Given the description of an element on the screen output the (x, y) to click on. 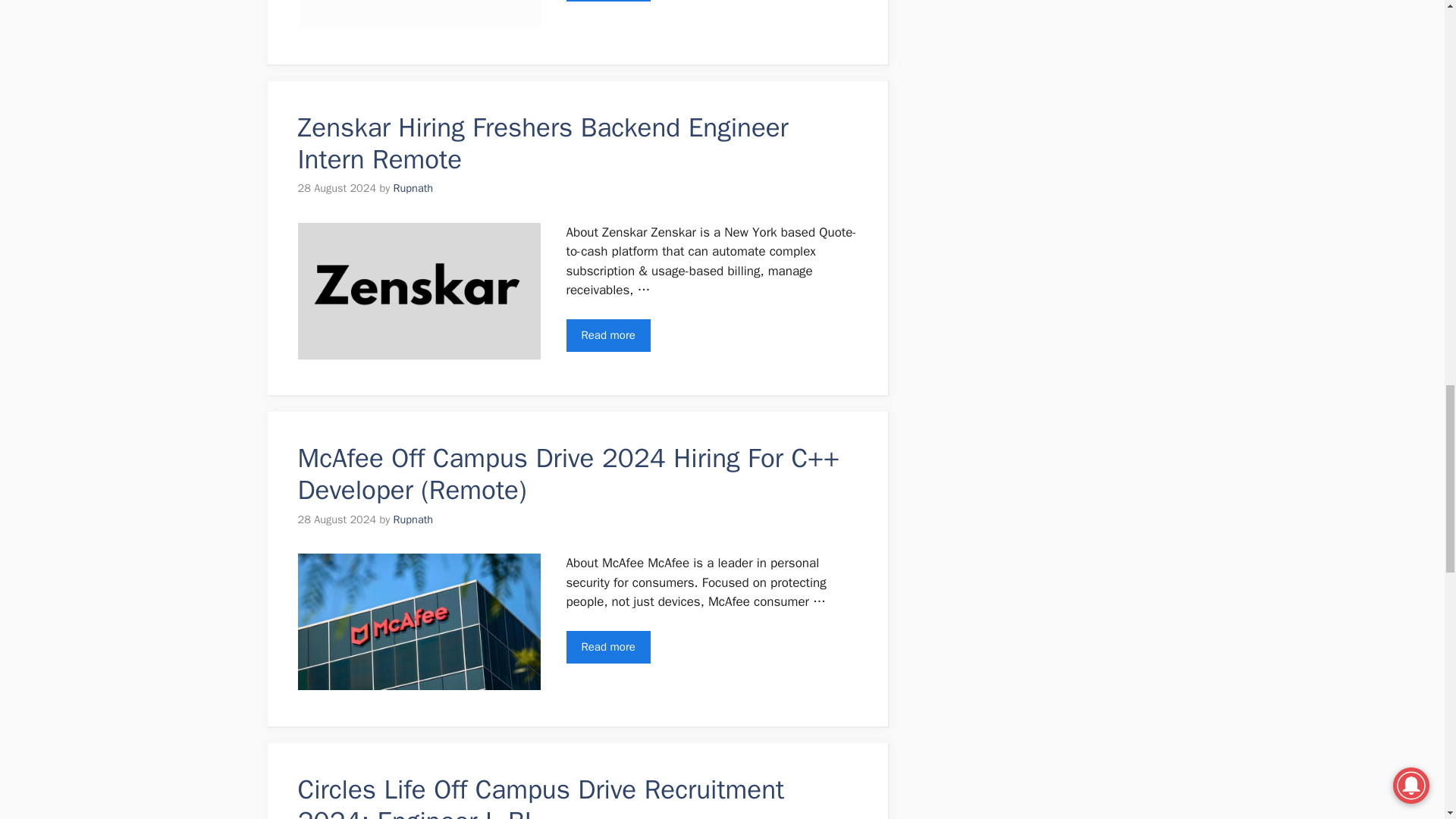
Zenskar Hiring Freshers Backend Engineer Intern Remote (607, 335)
Read more (607, 335)
View all posts by Rupnath (412, 187)
Zenskar Hiring Freshers Backend Engineer Intern Remote (542, 143)
View all posts by Rupnath (412, 519)
Read more (607, 0)
Read more (607, 646)
Rupnath (412, 519)
Wysa Hiring 2024 Freshers Backend Engineer Intern Remote (607, 0)
